Given the description of an element on the screen output the (x, y) to click on. 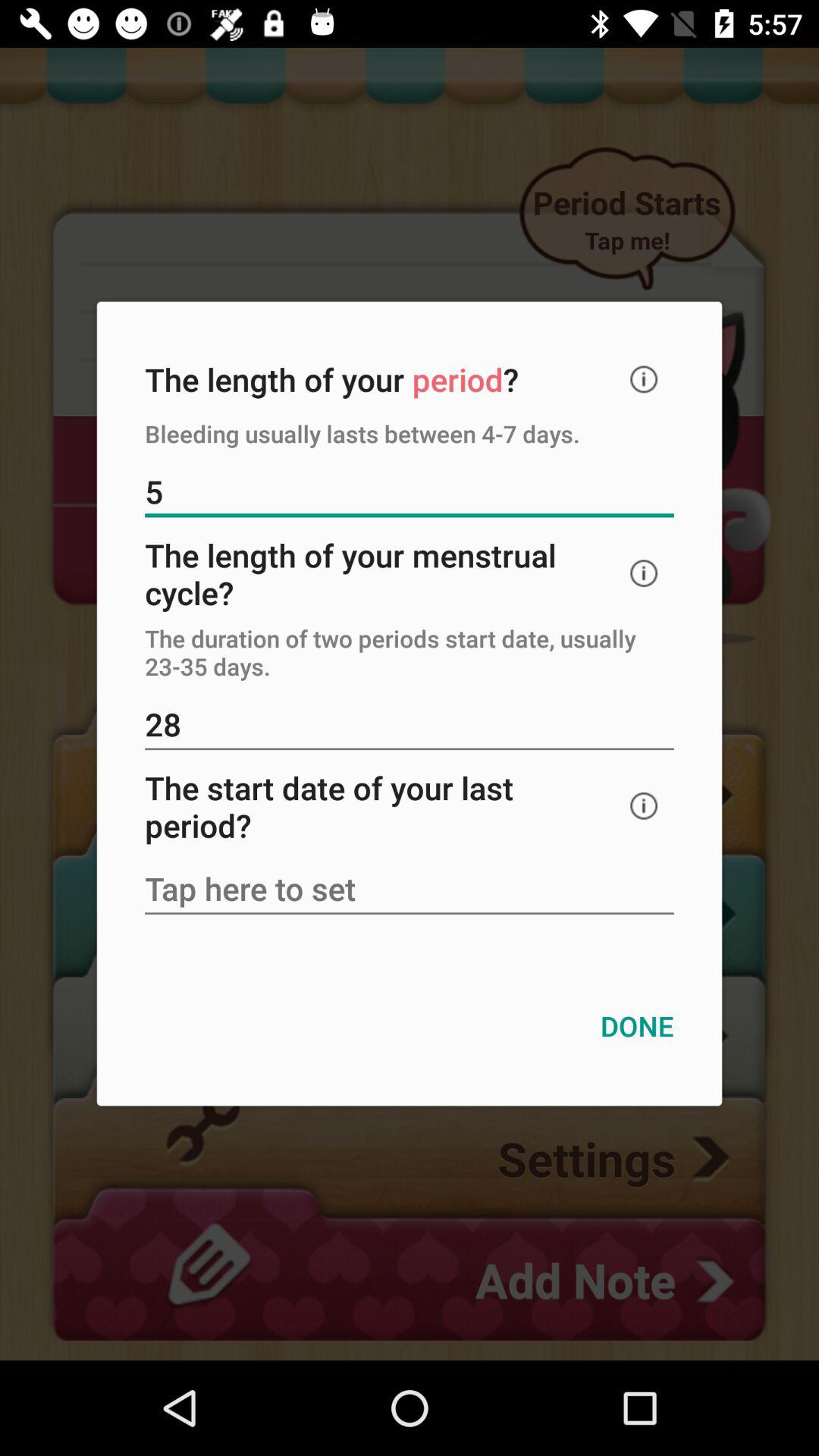
press the done icon (636, 1025)
